Given the description of an element on the screen output the (x, y) to click on. 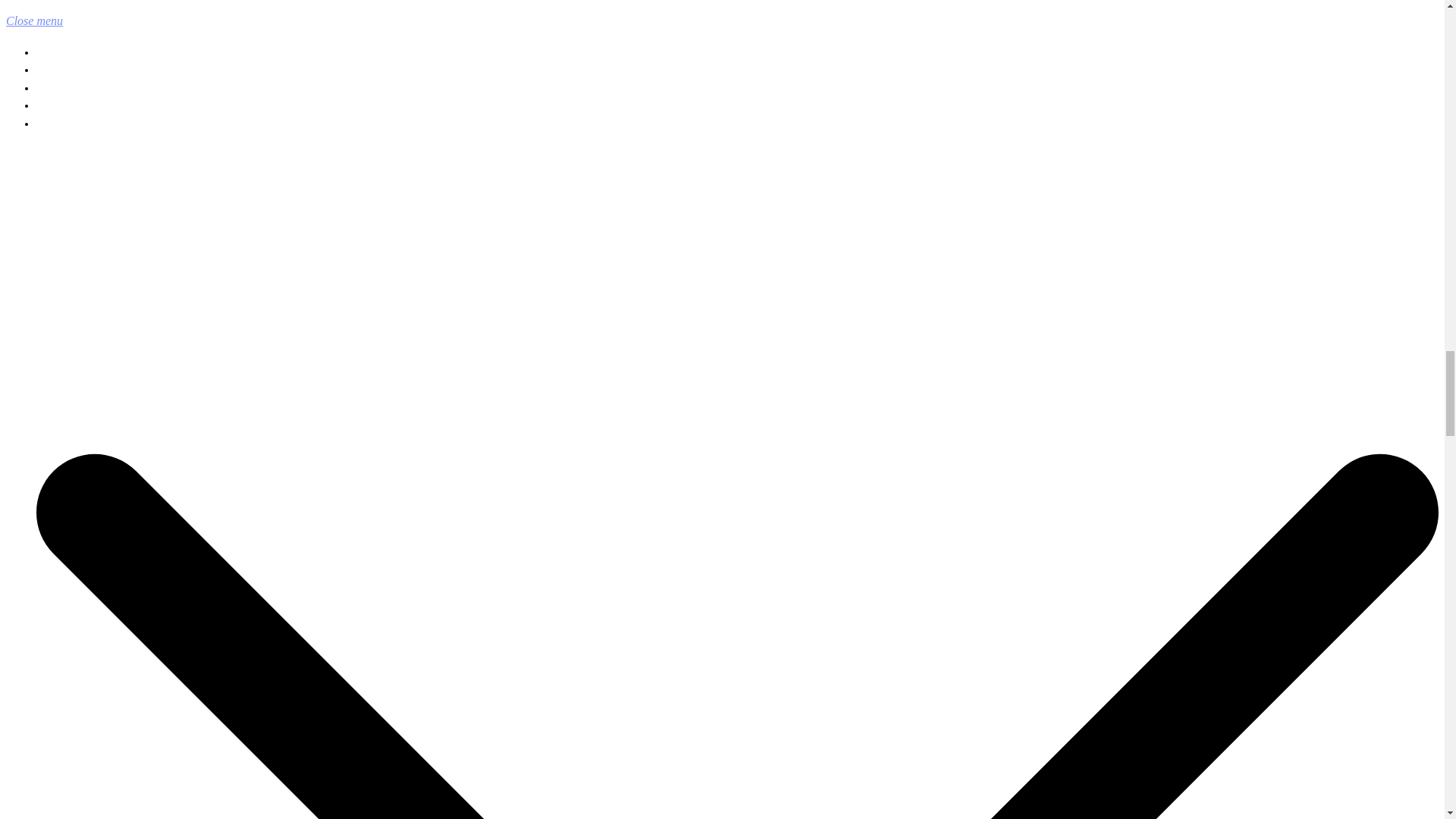
Introduction (62, 52)
Close menu (40, 20)
20th Century and Present (90, 123)
Medieval (56, 88)
Pre-History (60, 69)
19th Century (64, 105)
